Given the description of an element on the screen output the (x, y) to click on. 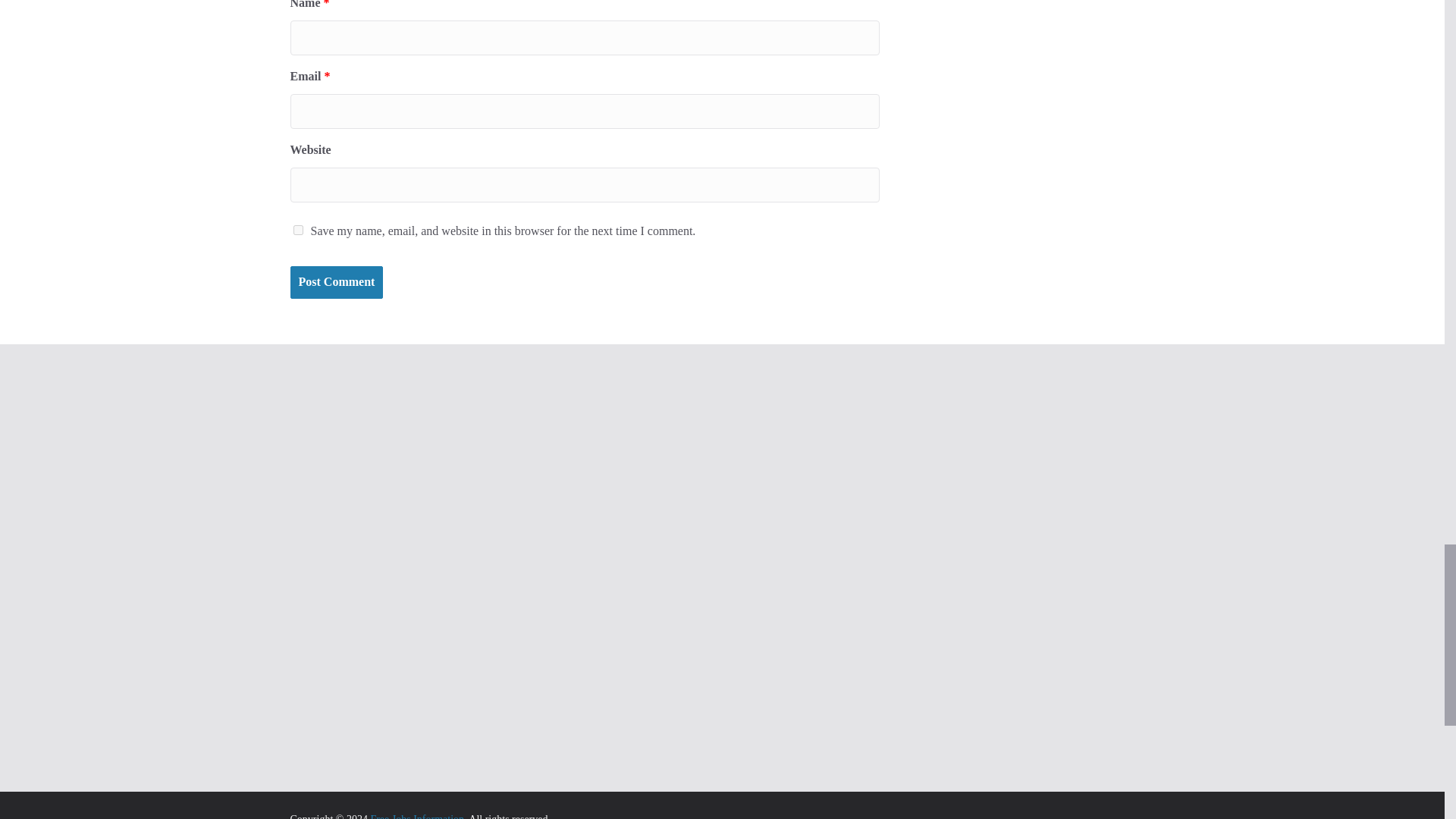
yes (297, 229)
Post Comment (335, 282)
Post Comment (335, 282)
